Given the description of an element on the screen output the (x, y) to click on. 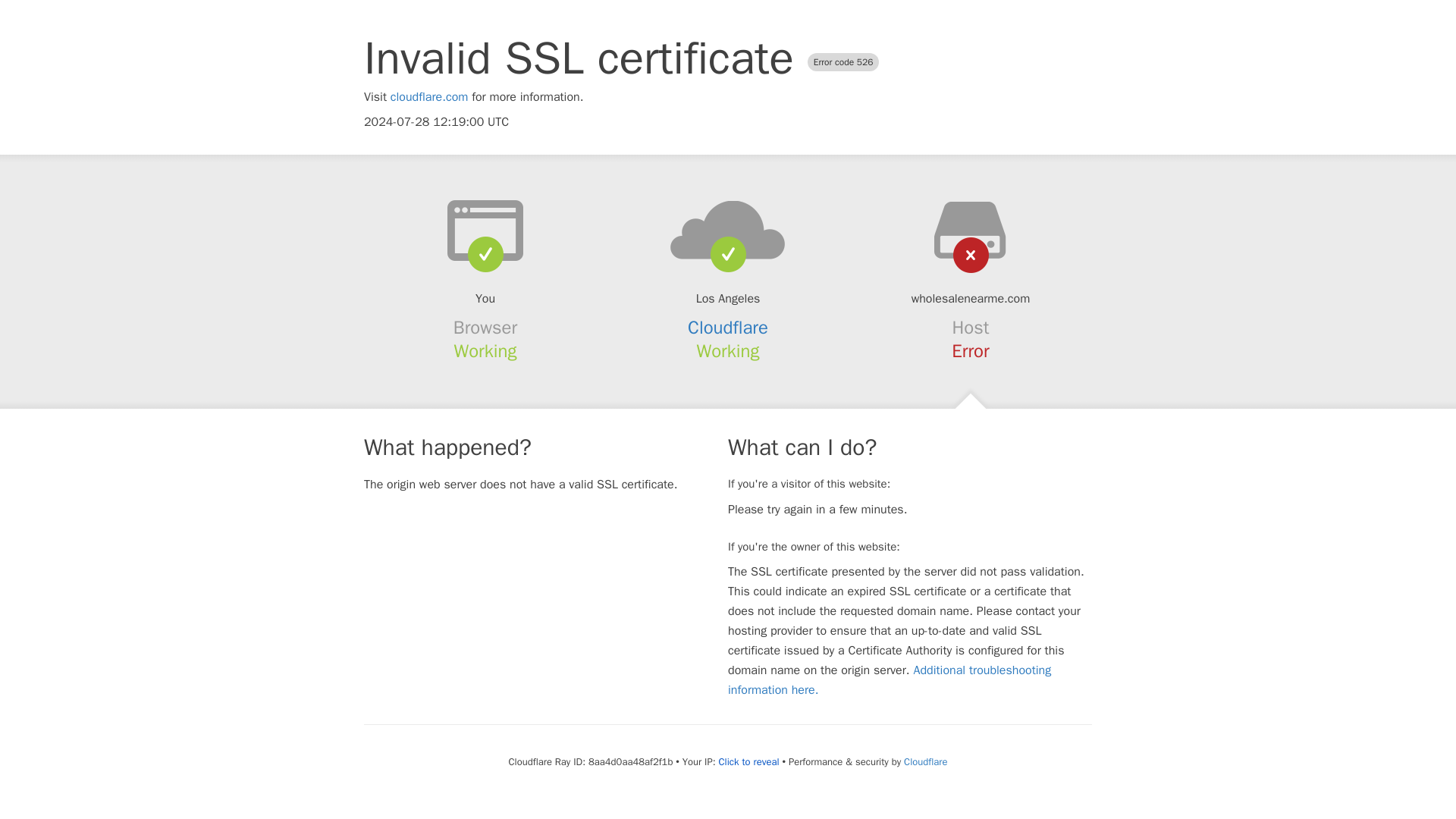
Cloudflare (925, 761)
Additional troubleshooting information here. (889, 679)
Cloudflare (727, 327)
cloudflare.com (429, 96)
Click to reveal (748, 762)
